Given the description of an element on the screen output the (x, y) to click on. 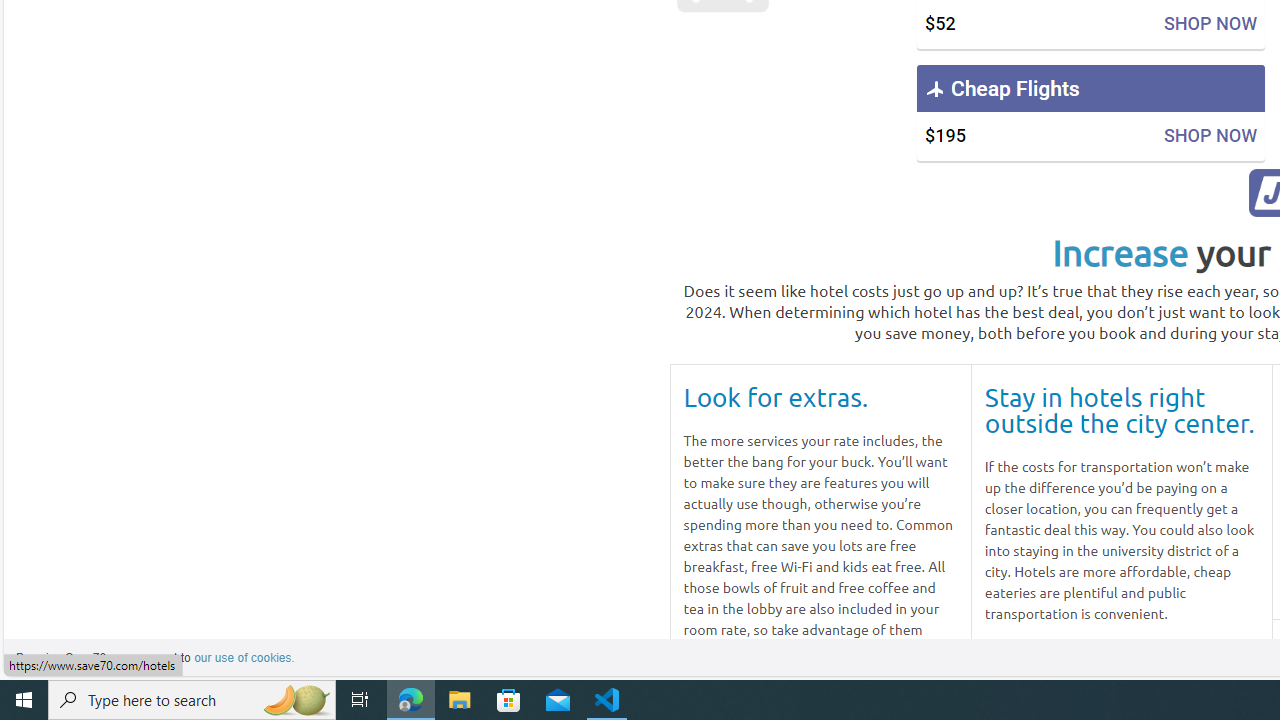
learn more about cookies (244, 657)
Cheap Flights $195 SHOP NOW (1090, 112)
